Given the description of an element on the screen output the (x, y) to click on. 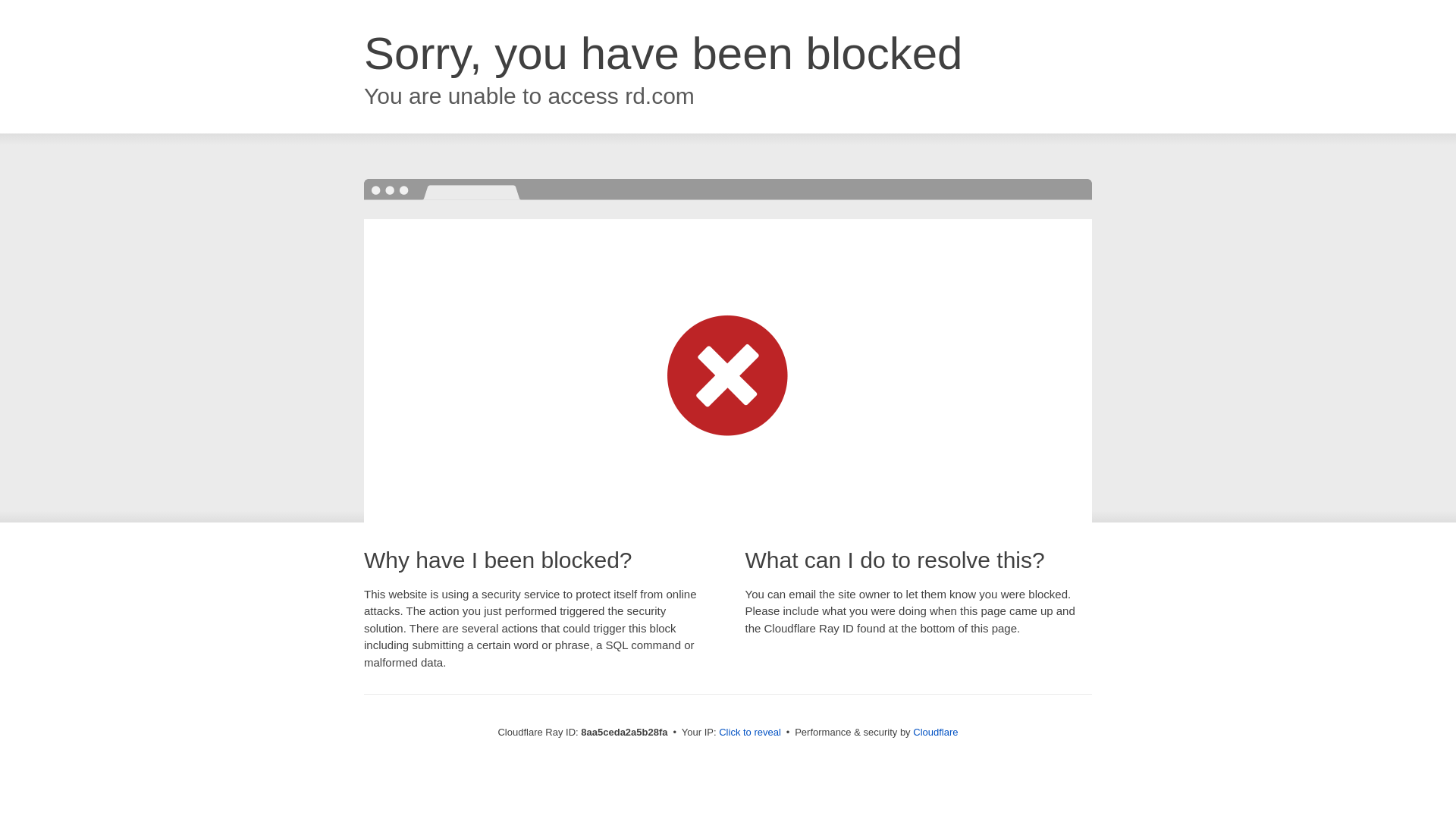
Click to reveal (749, 732)
Cloudflare (935, 731)
